Given the description of an element on the screen output the (x, y) to click on. 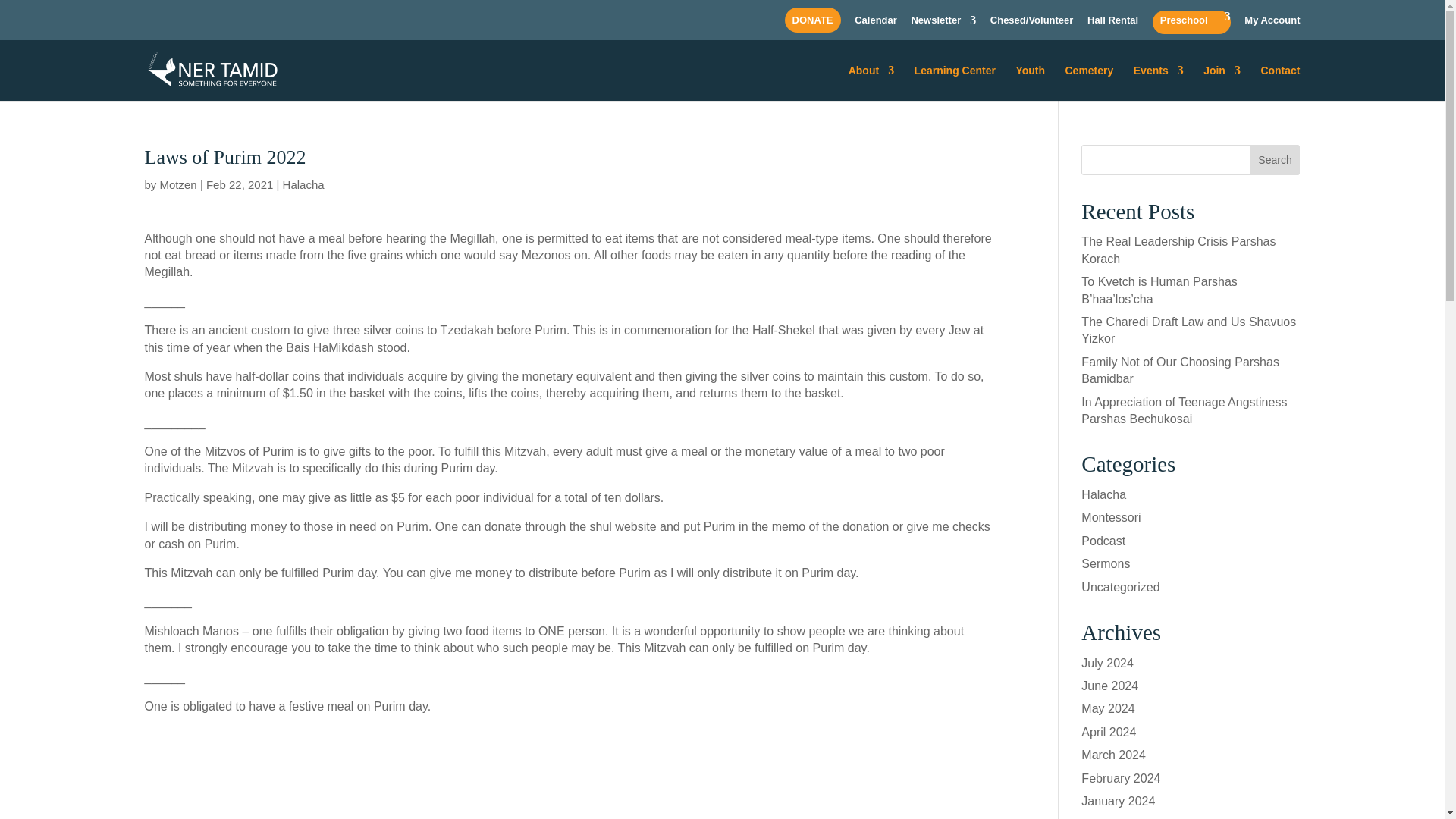
Calendar (875, 23)
Newsletter (943, 23)
Search (1275, 159)
Learning Center (954, 82)
Hall Rental (1112, 23)
Posts by Motzen (178, 184)
Contact (1280, 82)
Preschool (1191, 24)
DONATE (812, 23)
About (870, 82)
My Account (1272, 23)
Cemetery (1088, 82)
Events (1158, 82)
Join (1222, 82)
